Given the description of an element on the screen output the (x, y) to click on. 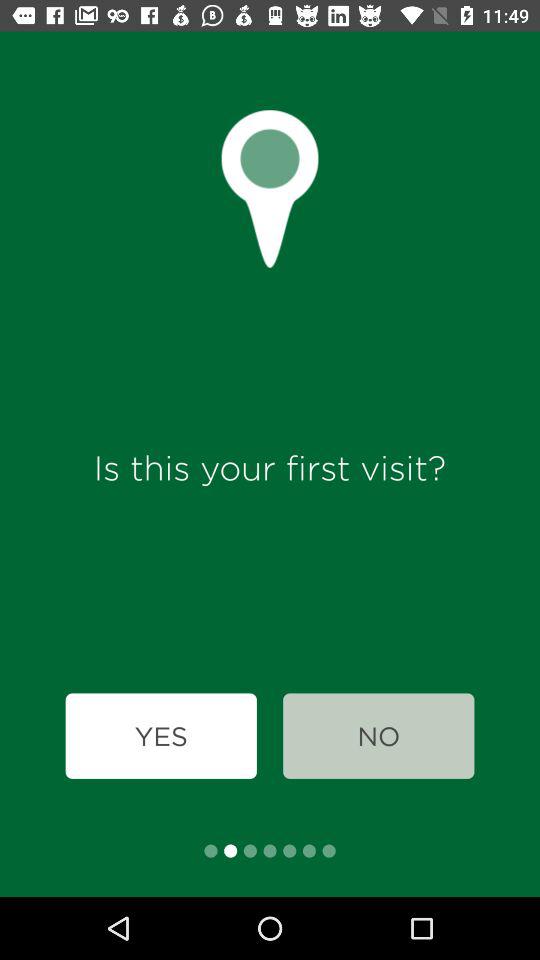
turn off icon at the bottom right corner (378, 735)
